Given the description of an element on the screen output the (x, y) to click on. 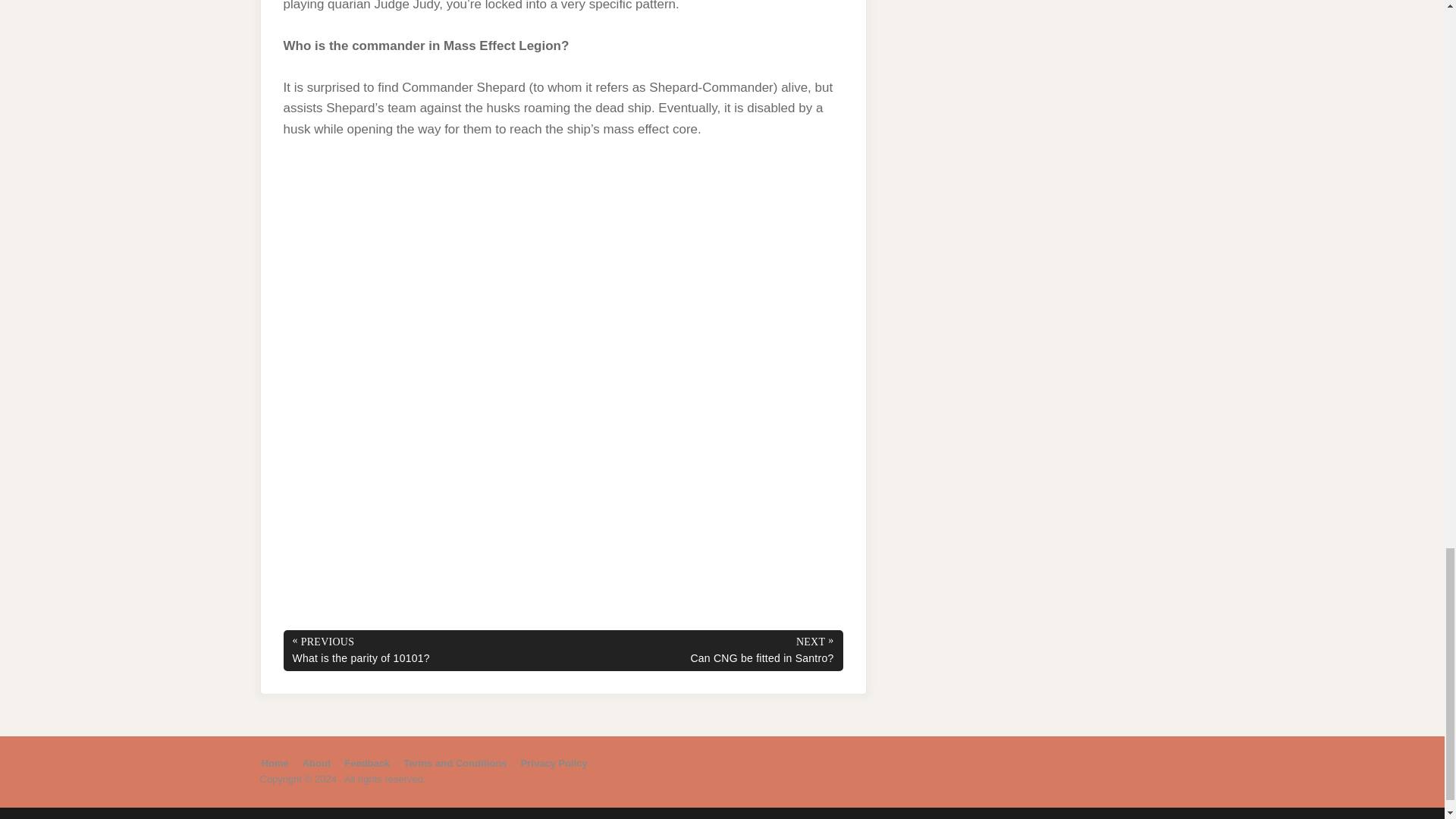
Privacy Policy (554, 763)
Home (274, 763)
Feedback (366, 763)
Terms and Conditions (454, 763)
About (316, 763)
